Given the description of an element on the screen output the (x, y) to click on. 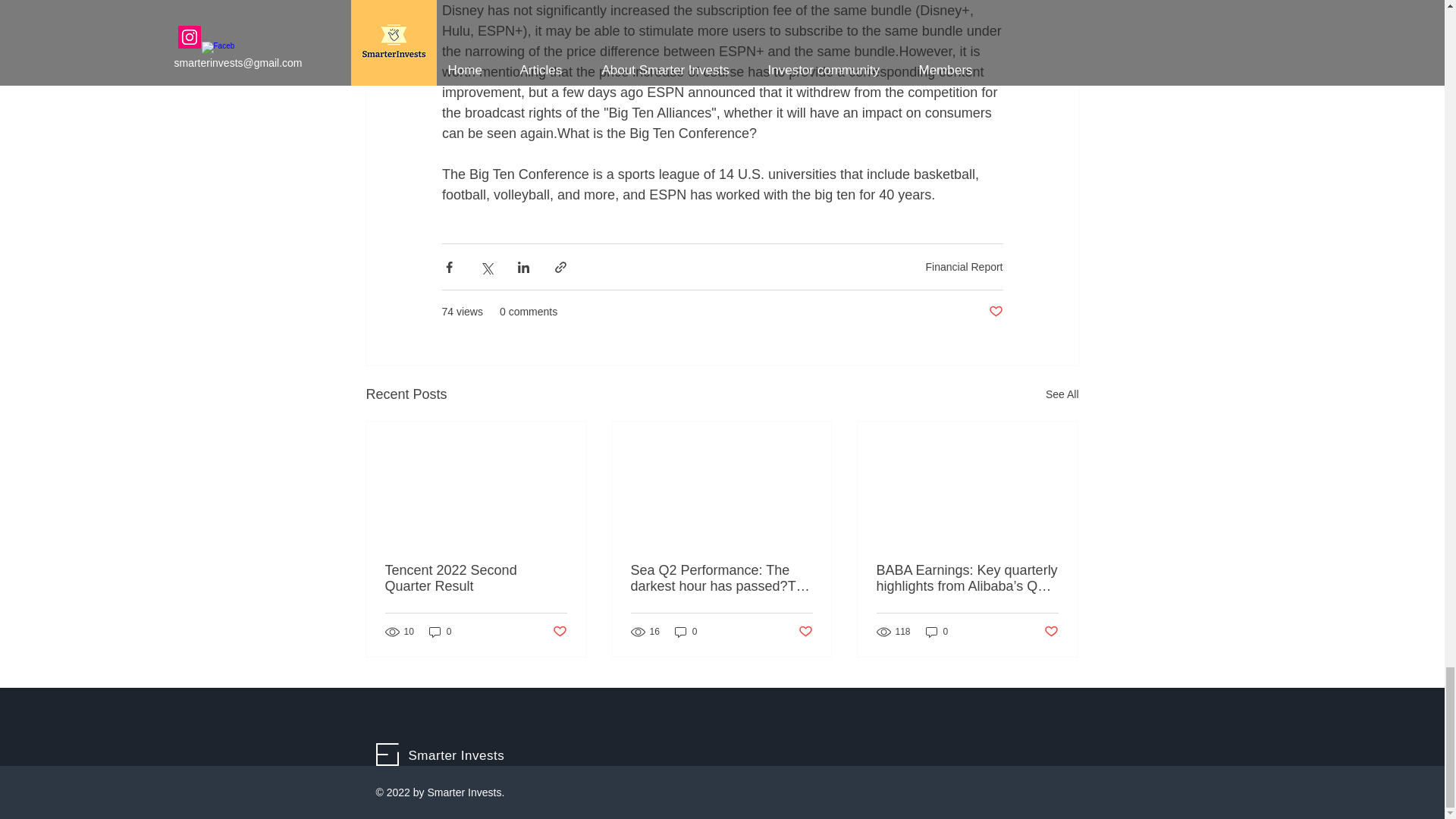
Post not marked as liked (558, 631)
Post not marked as liked (804, 631)
Post not marked as liked (1050, 631)
Smarter Invests (455, 755)
See All (1061, 394)
Post not marked as liked (995, 311)
0 (685, 631)
Tencent 2022 Second Quarter Result (476, 578)
0 (440, 631)
